Given the description of an element on the screen output the (x, y) to click on. 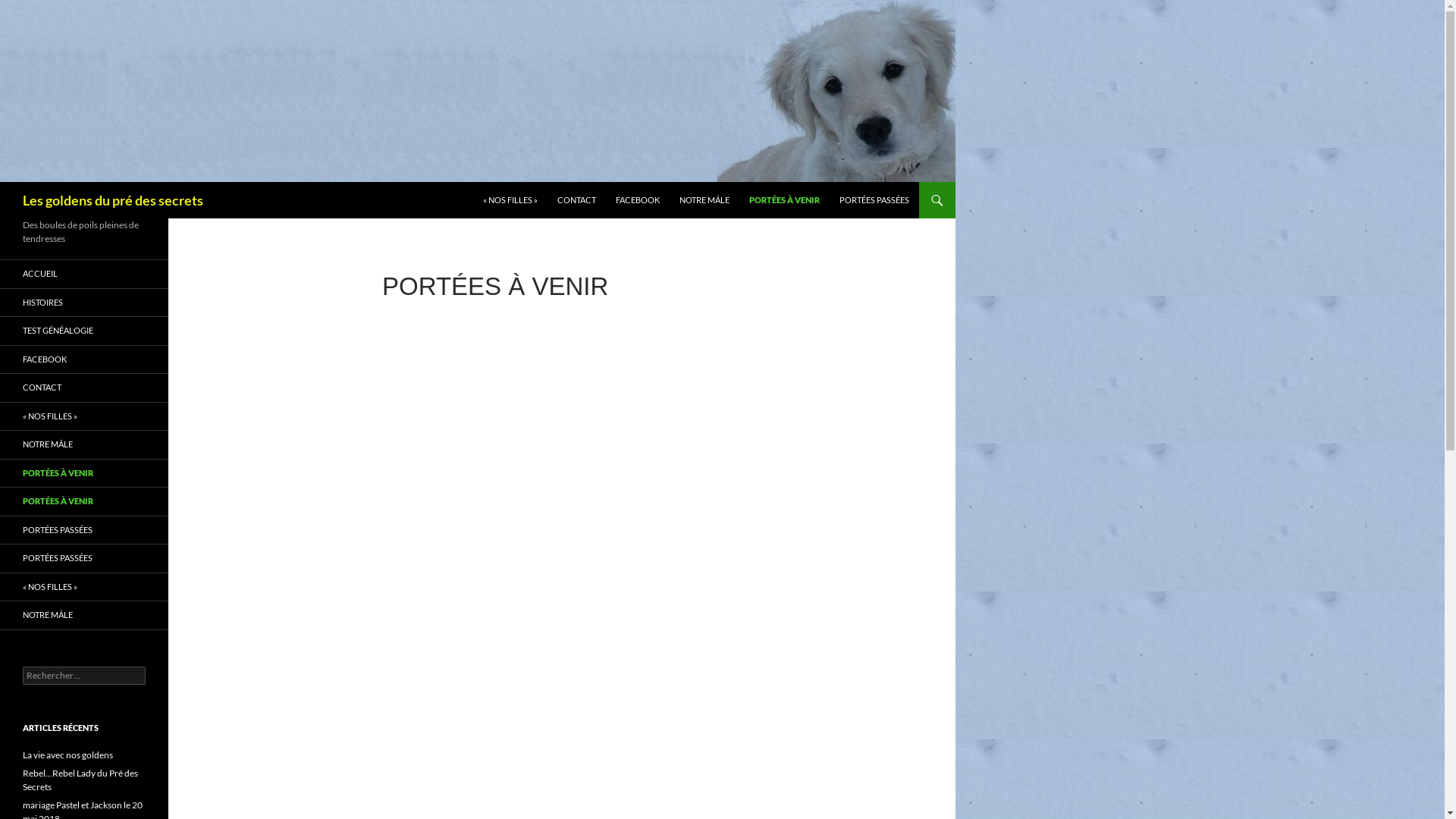
Recherche Element type: text (3, 181)
FACEBOOK Element type: text (84, 359)
CONTACT Element type: text (84, 387)
CONTACT Element type: text (576, 200)
HISTOIRES Element type: text (84, 302)
Rechercher Element type: text (41, 9)
ALLER AU CONTENU Element type: text (482, 181)
La vie avec nos goldens Element type: text (67, 754)
ACCUEIL Element type: text (84, 274)
FACEBOOK Element type: text (637, 200)
